Given the description of an element on the screen output the (x, y) to click on. 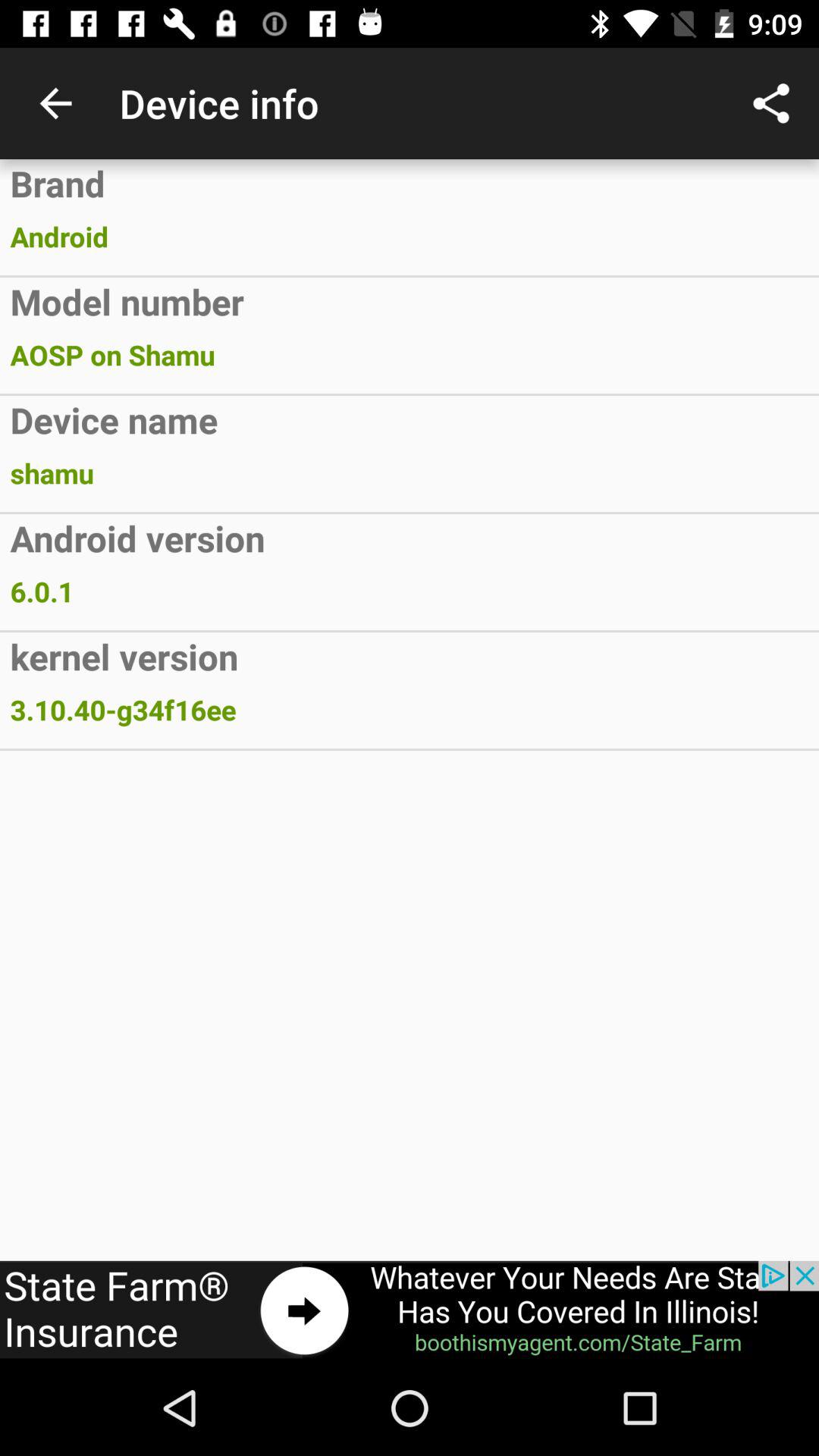
open advertisement (409, 1310)
